Given the description of an element on the screen output the (x, y) to click on. 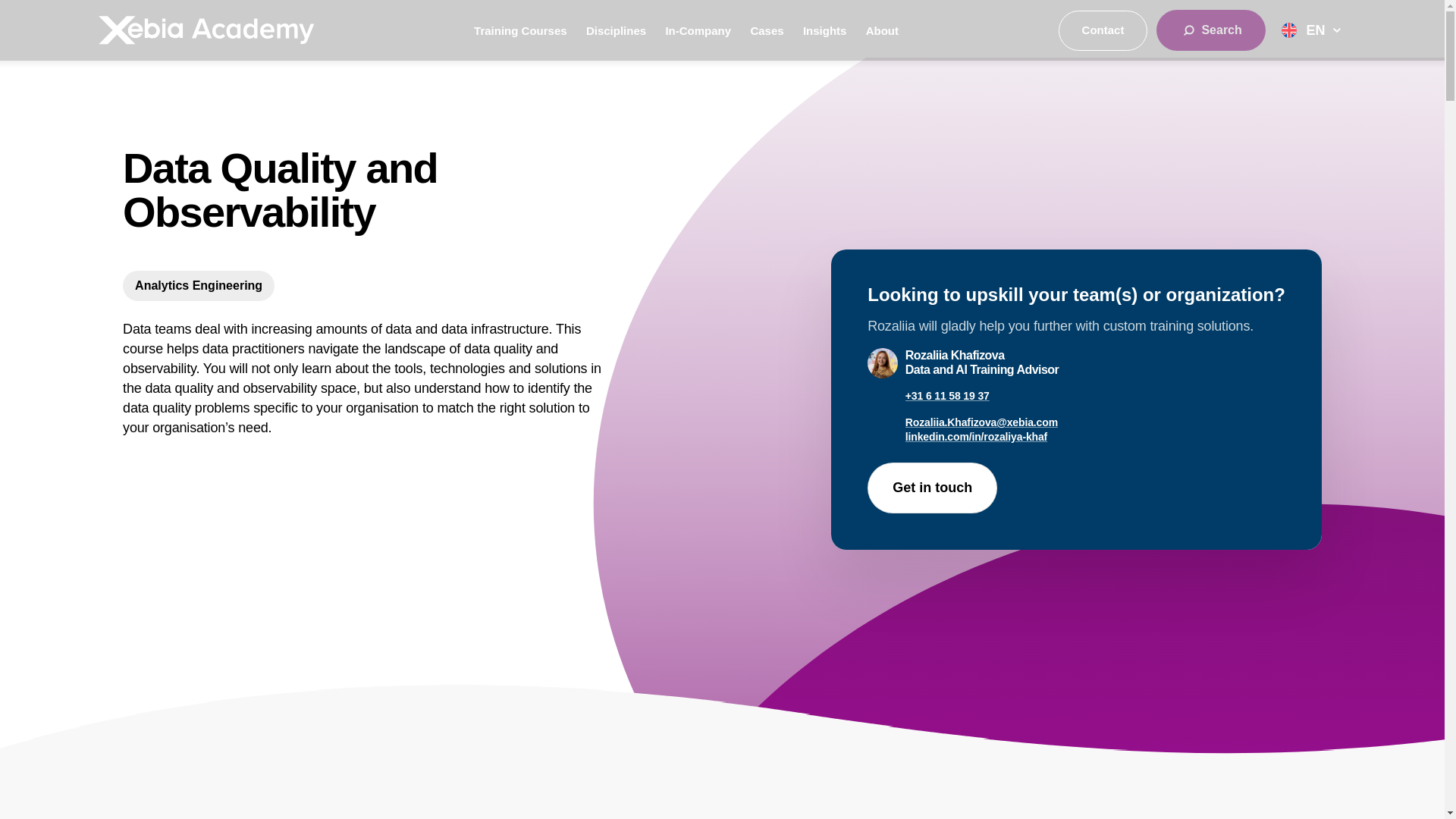
Disciplines (616, 30)
Training Courses (520, 30)
In-Company (697, 30)
In-Company (697, 30)
Contact (1103, 30)
Disciplines (616, 30)
Training Courses (520, 30)
Search (1210, 29)
